Given the description of an element on the screen output the (x, y) to click on. 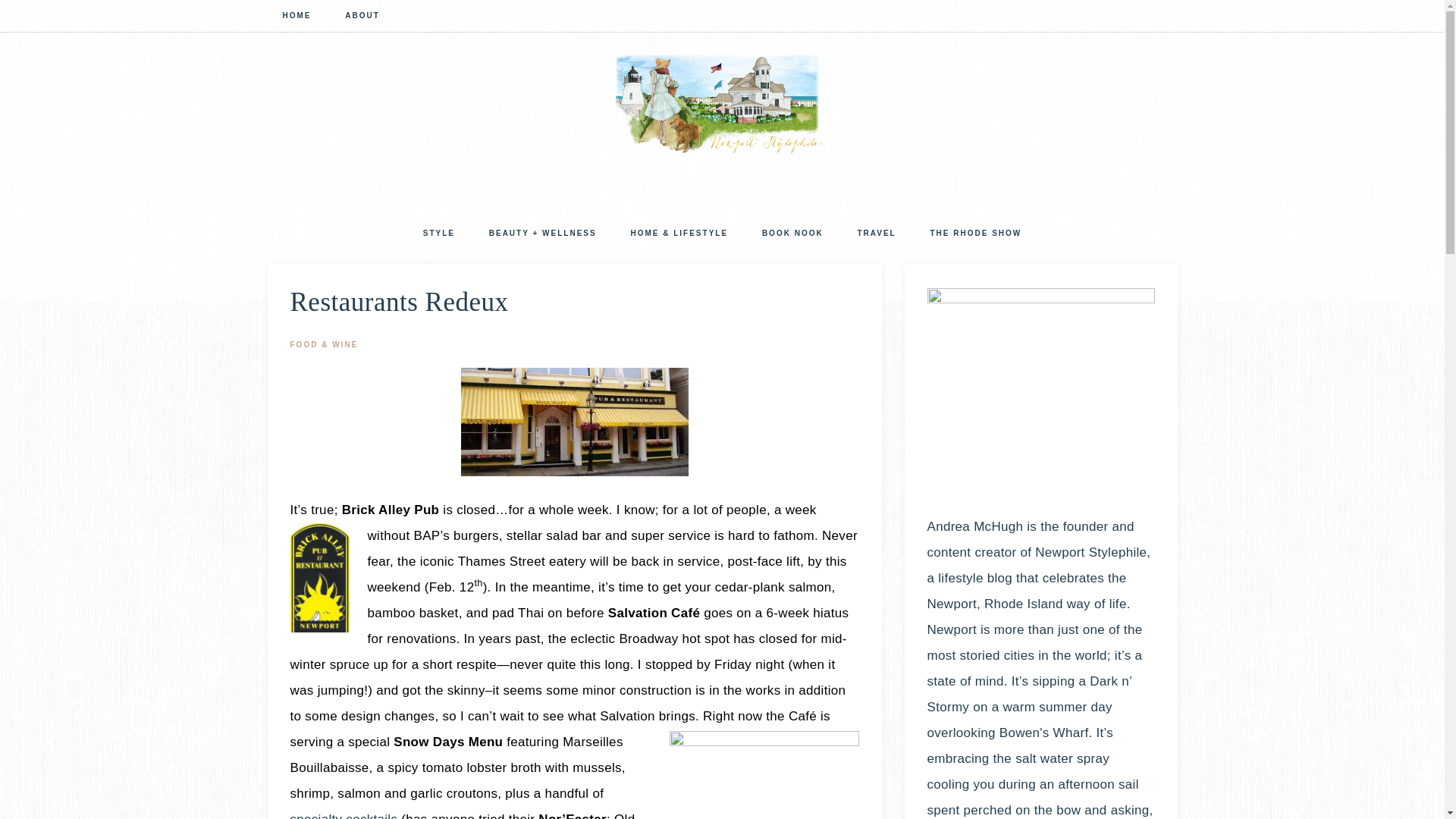
images (574, 421)
Brick Alley Pub (390, 509)
BOOK NOOK (792, 234)
THE RHODE SHOW (975, 234)
HOME (296, 17)
TRAVEL (876, 234)
STYLE (438, 234)
ABOUT (362, 17)
